Given the description of an element on the screen output the (x, y) to click on. 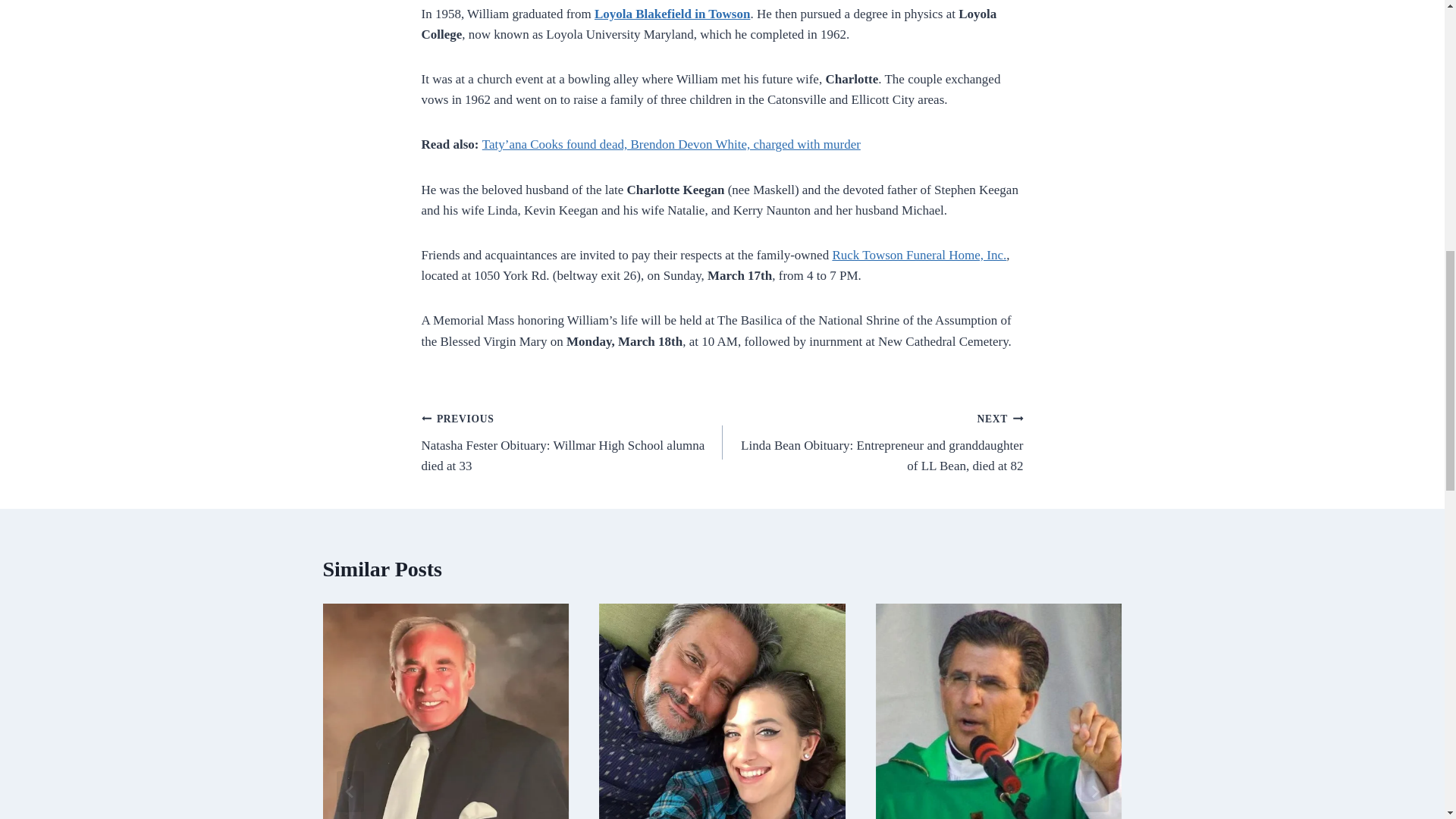
Ruck Towson Funeral Home, Inc. (918, 255)
Loyola Blakefield in Towson (671, 13)
